Given the description of an element on the screen output the (x, y) to click on. 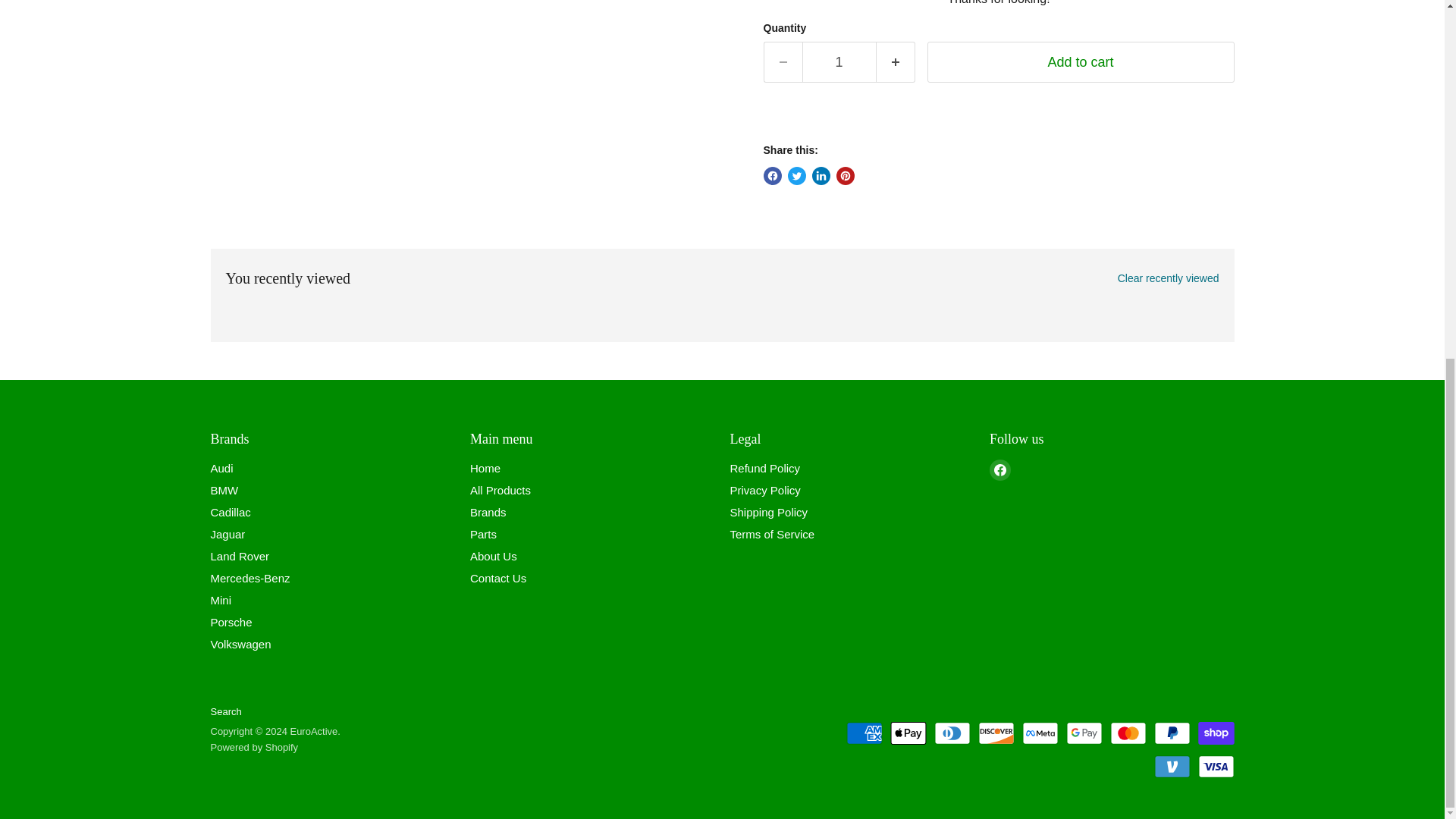
Google Pay (1083, 732)
Meta Pay (1040, 732)
Diners Club (952, 732)
1 (839, 62)
Apple Pay (907, 732)
American Express (863, 732)
Discover (996, 732)
Facebook (1000, 469)
